Given the description of an element on the screen output the (x, y) to click on. 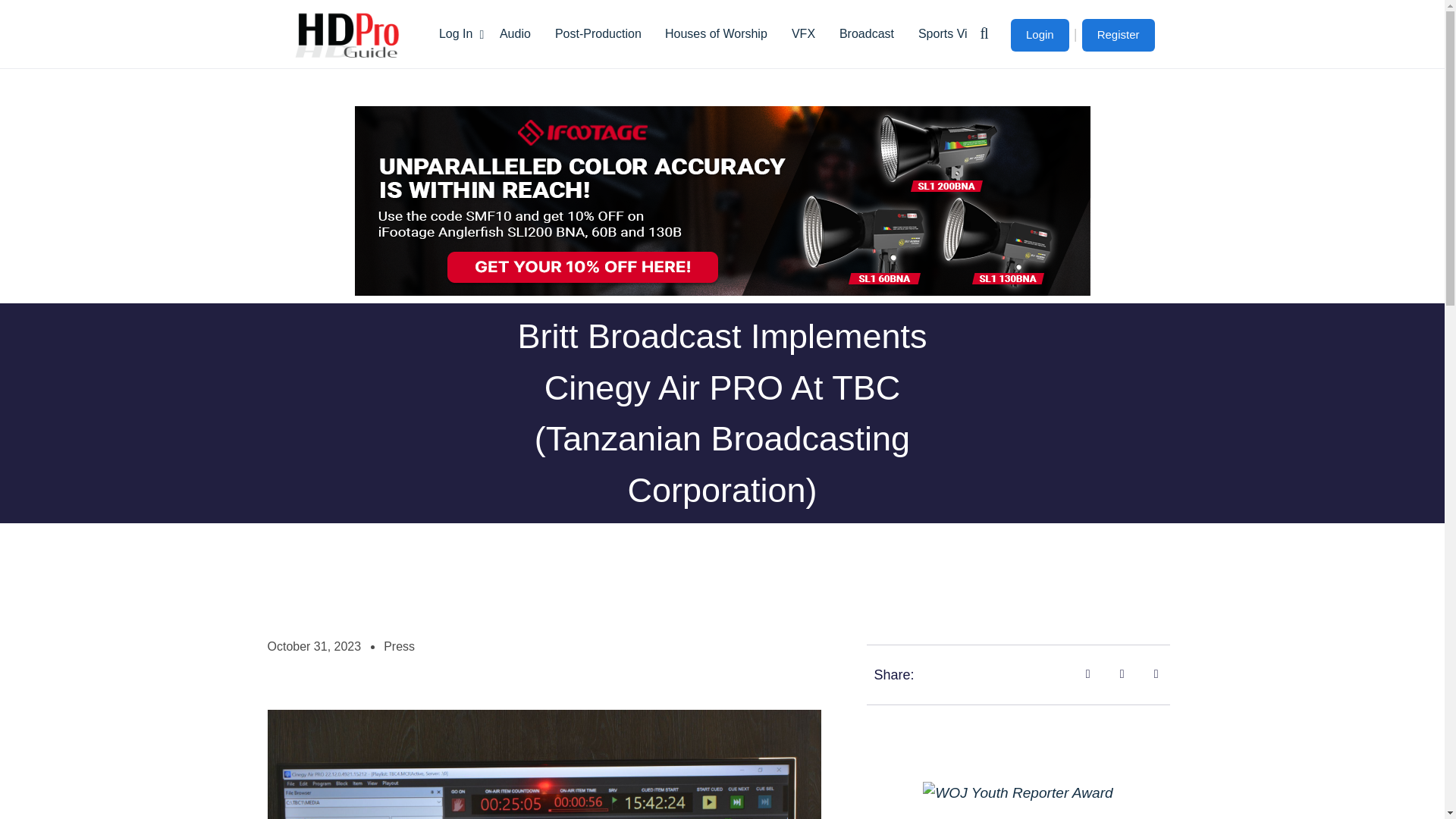
Register (1117, 34)
Houses of Worship (715, 33)
Sports Video (951, 33)
Log In (456, 33)
Search (1088, 114)
Broadcast (866, 33)
Audio (515, 33)
Register (1117, 34)
Login (1039, 34)
VFX (802, 33)
Post-Production (598, 33)
Login (1039, 34)
